Given the description of an element on the screen output the (x, y) to click on. 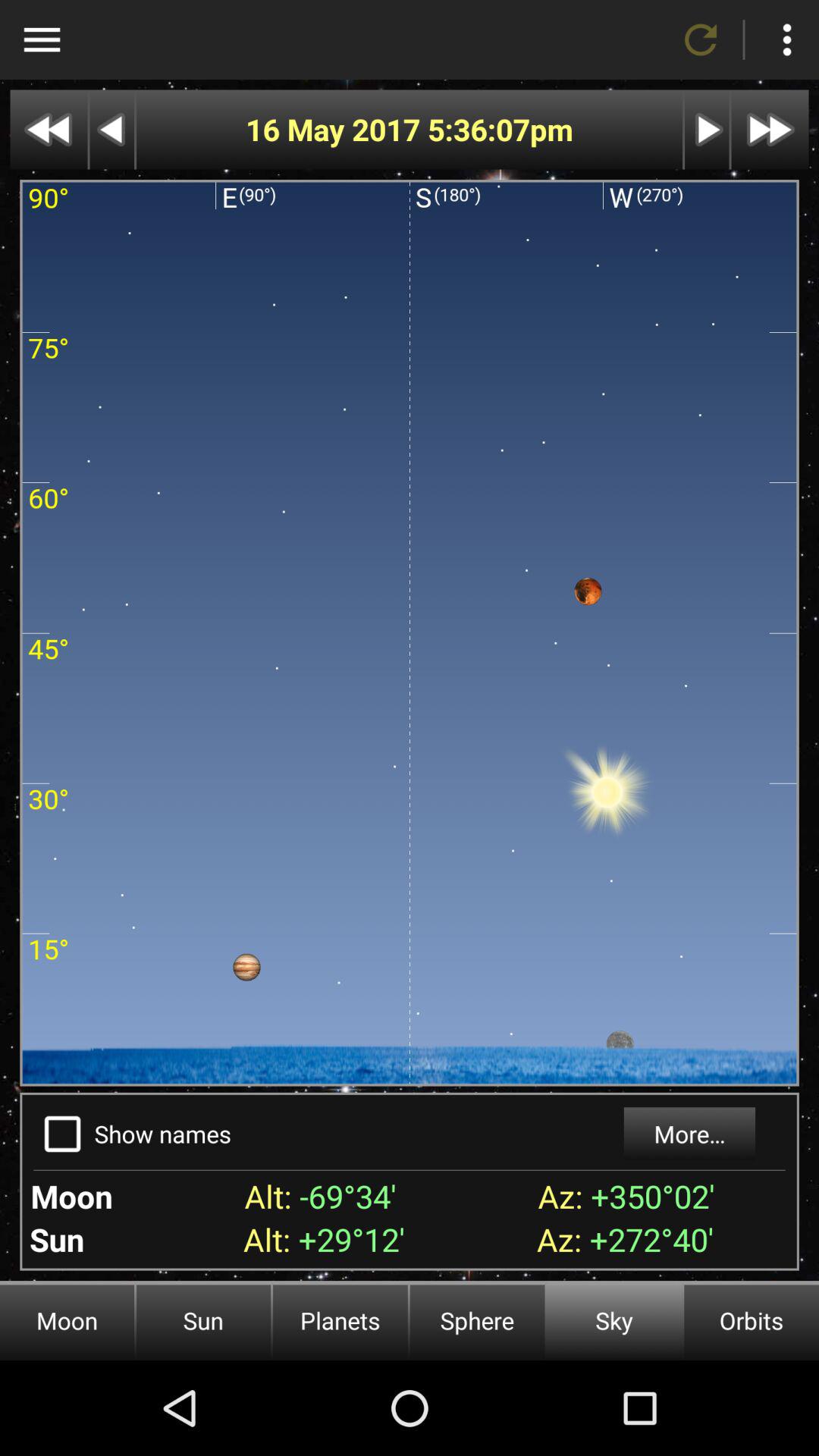
jump to show names icon (162, 1133)
